Given the description of an element on the screen output the (x, y) to click on. 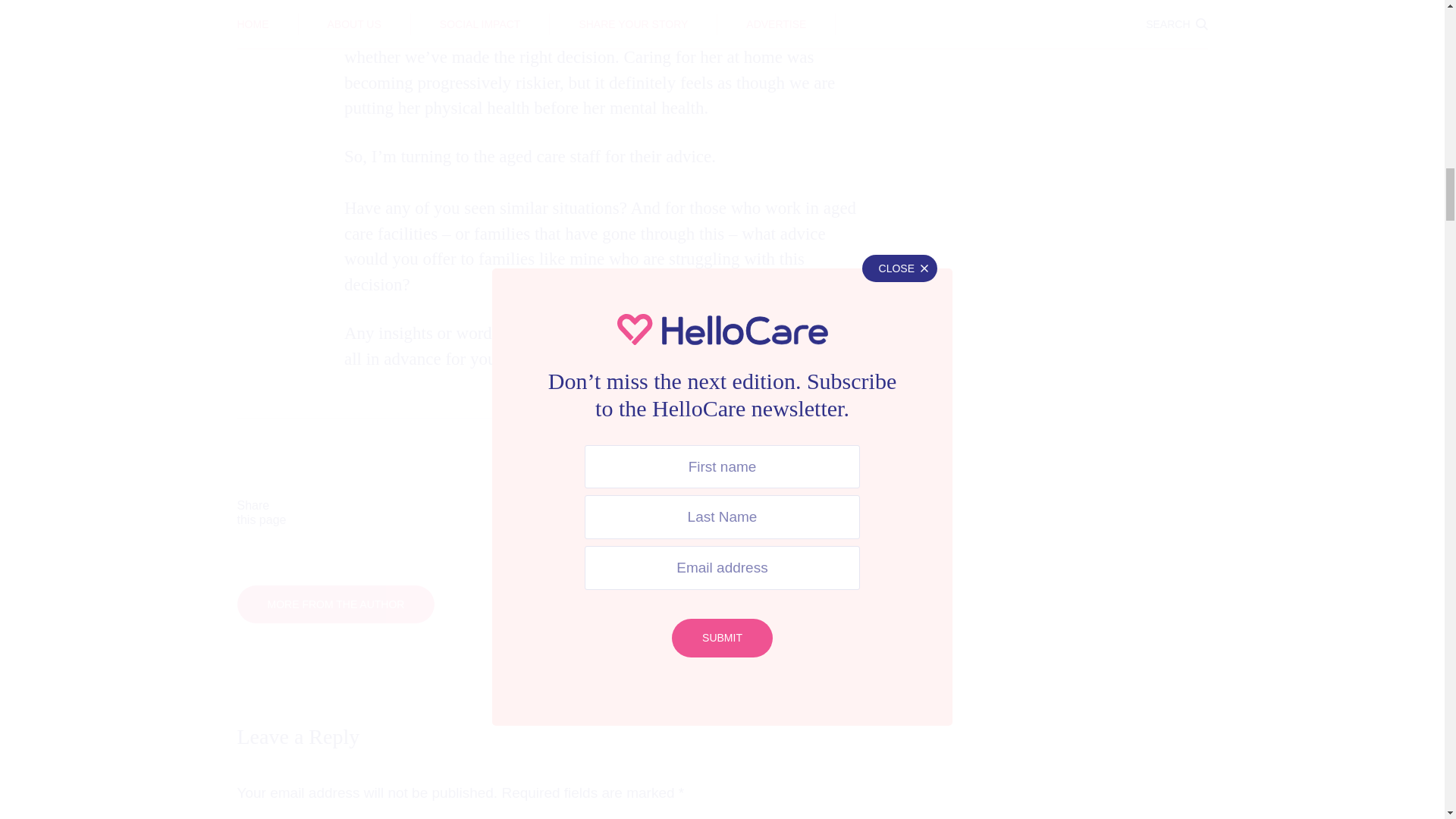
Share on Facebook (372, 513)
Share via Email (792, 513)
Share on linkedIn (652, 513)
Share on Twitter (512, 513)
